Given the description of an element on the screen output the (x, y) to click on. 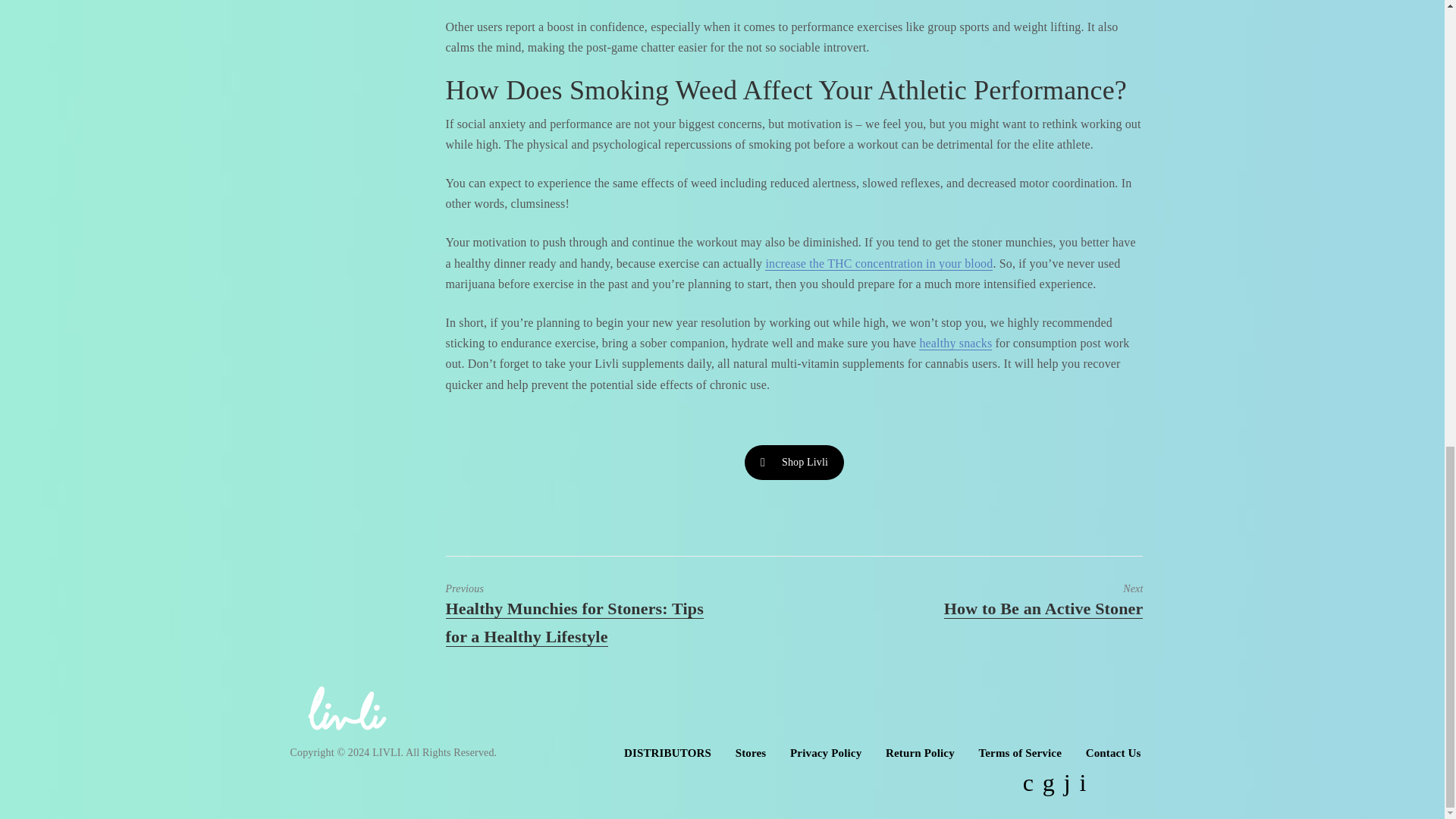
Contact Us (1113, 751)
DISTRIBUTORS (667, 751)
Return Policy (919, 751)
Privacy Policy (826, 751)
Stores (751, 751)
healthy snacks (954, 343)
Terms of Service (1019, 751)
increase the THC concentration in your blood (1004, 599)
